Given the description of an element on the screen output the (x, y) to click on. 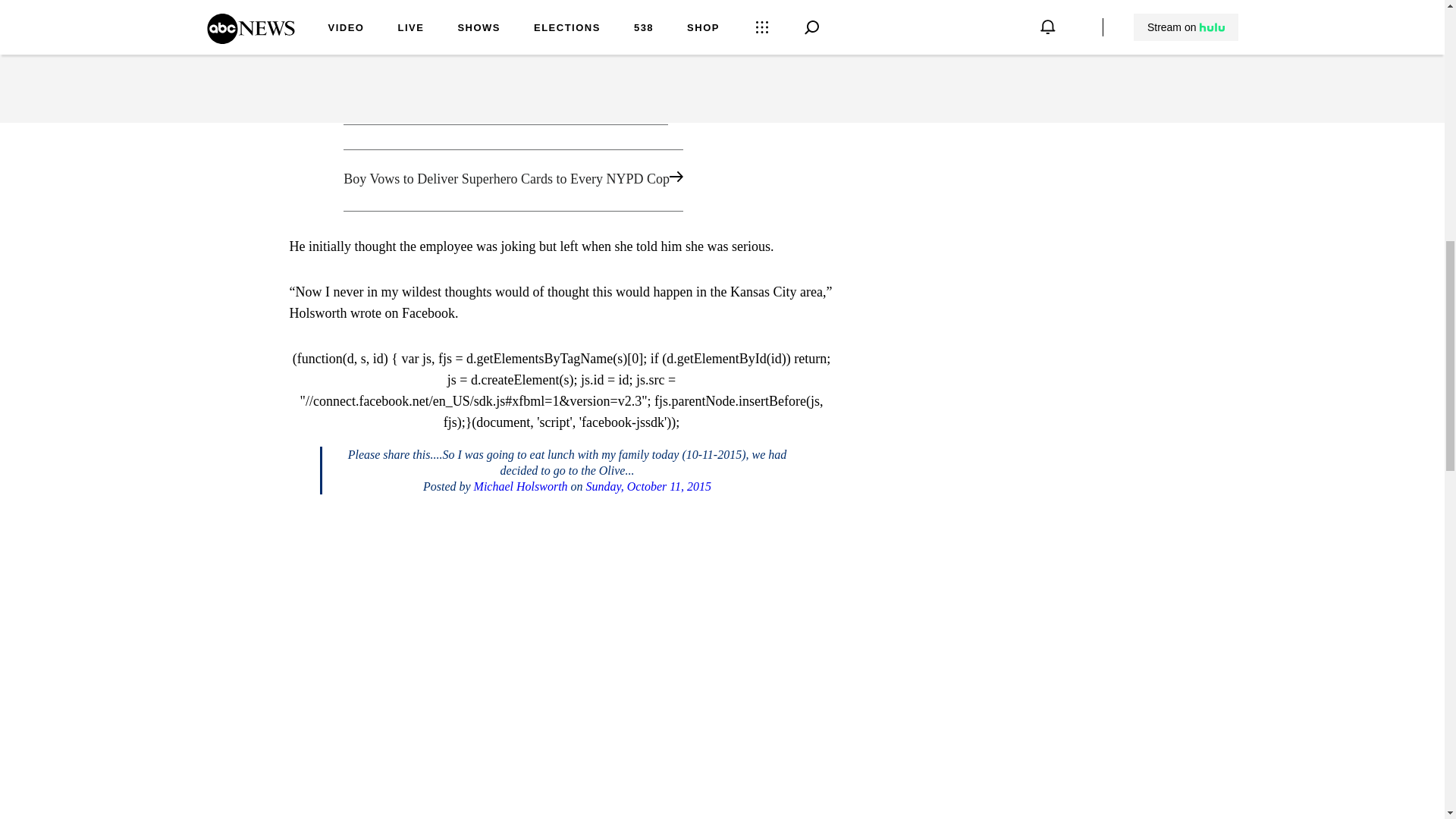
Sunday, October 11, 2015 (648, 486)
Former Cop Leads 'Blacklivesmatter' Coffee Cup Protest (560, 94)
Michael Holsworth (520, 486)
Boy Vows to Deliver Superhero Cards to Every NYPD Cop (560, 180)
